Given the description of an element on the screen output the (x, y) to click on. 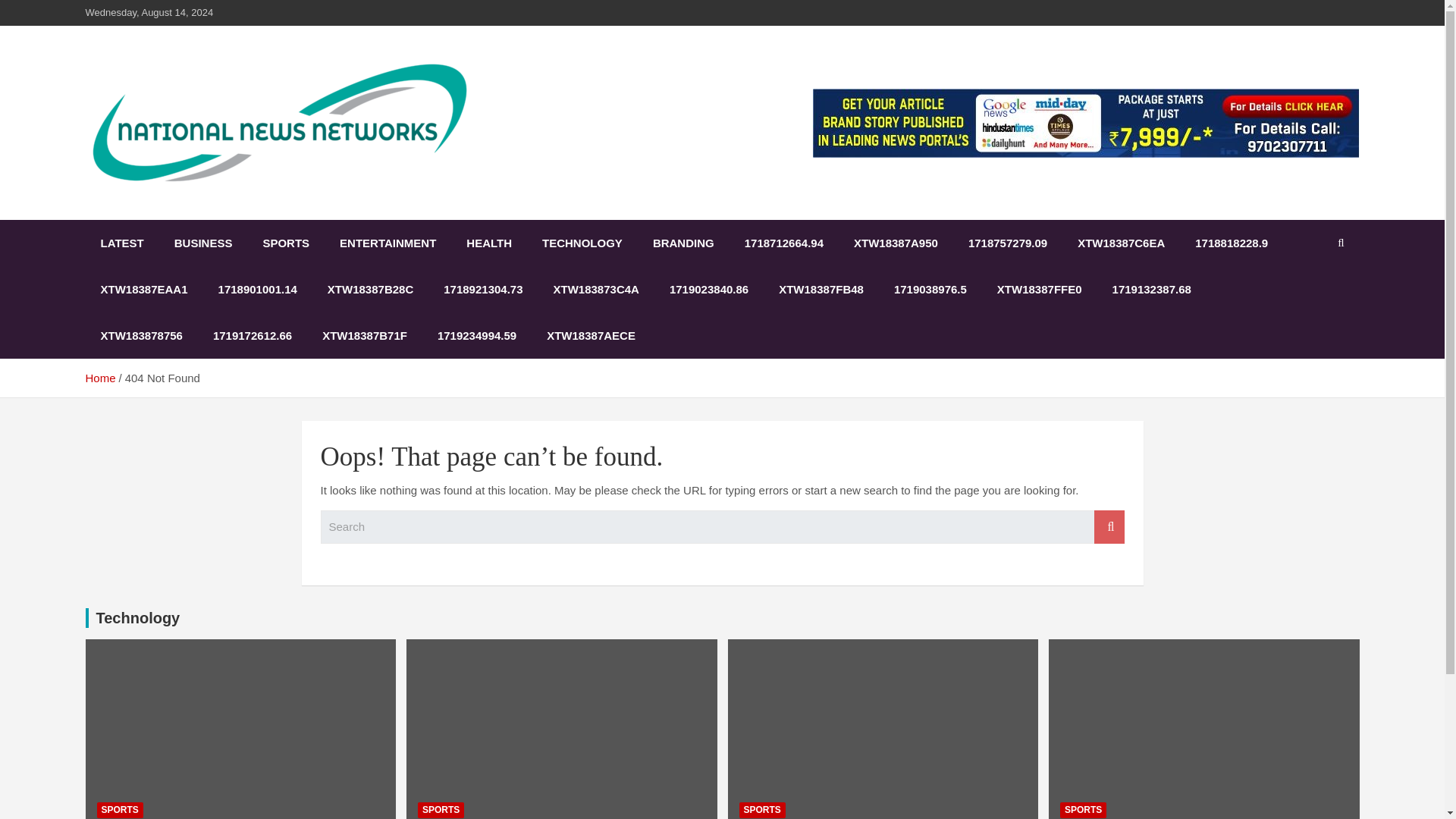
1719234994.59 (476, 335)
Technology (137, 617)
XTW18387C6EA (1120, 243)
1718712664.94 (783, 243)
XTW18387FFE0 (1039, 289)
1719172612.66 (252, 335)
SPORTS (285, 243)
1719023840.86 (707, 289)
XTW18387EAA1 (143, 289)
XTW18387B71F (364, 335)
